Given the description of an element on the screen output the (x, y) to click on. 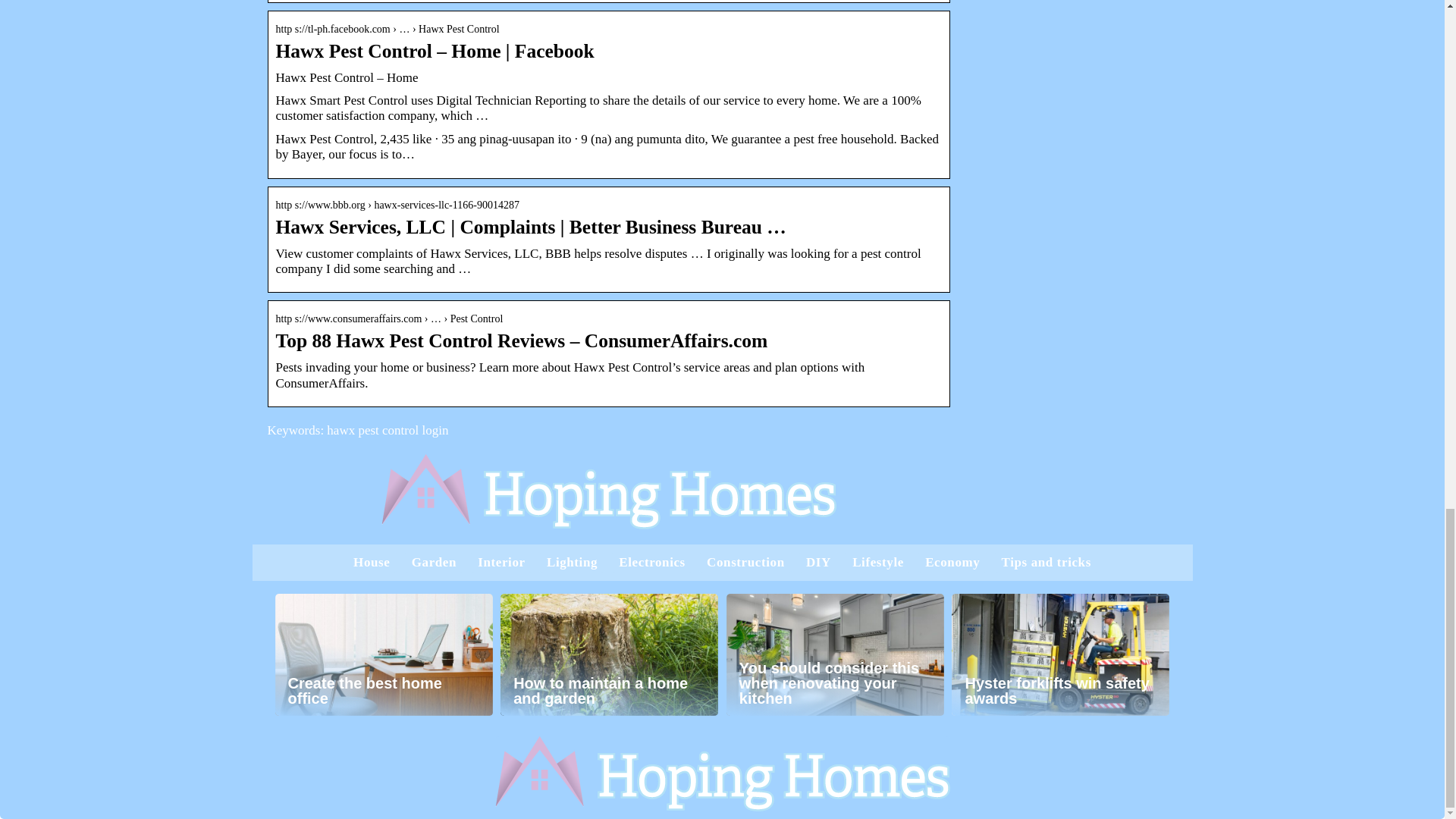
Construction (745, 562)
Garden (434, 562)
House (371, 562)
Lighting (571, 562)
Interior (500, 562)
Electronics (651, 562)
